Given the description of an element on the screen output the (x, y) to click on. 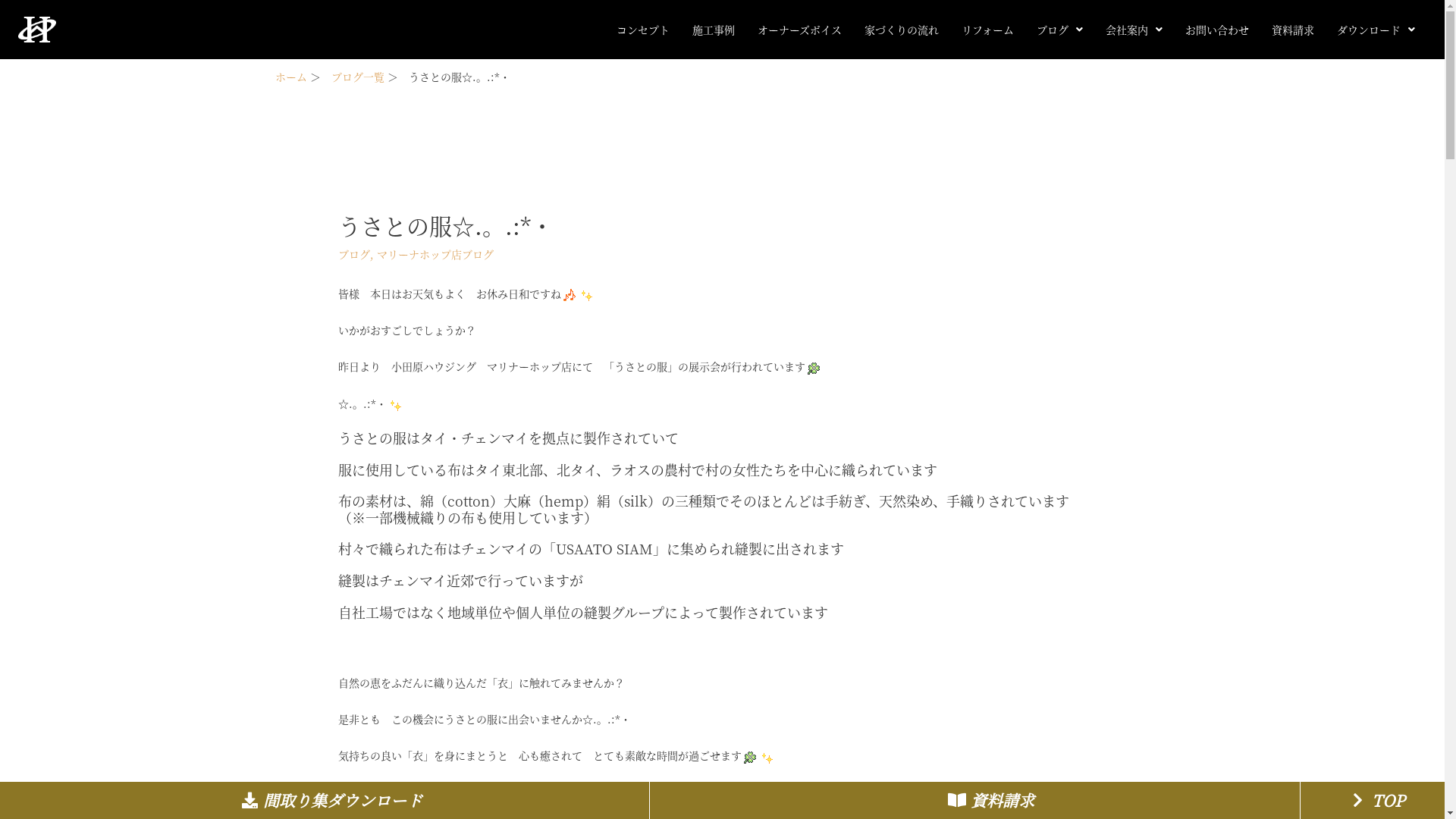
TOP Element type: text (1375, 800)
